Given the description of an element on the screen output the (x, y) to click on. 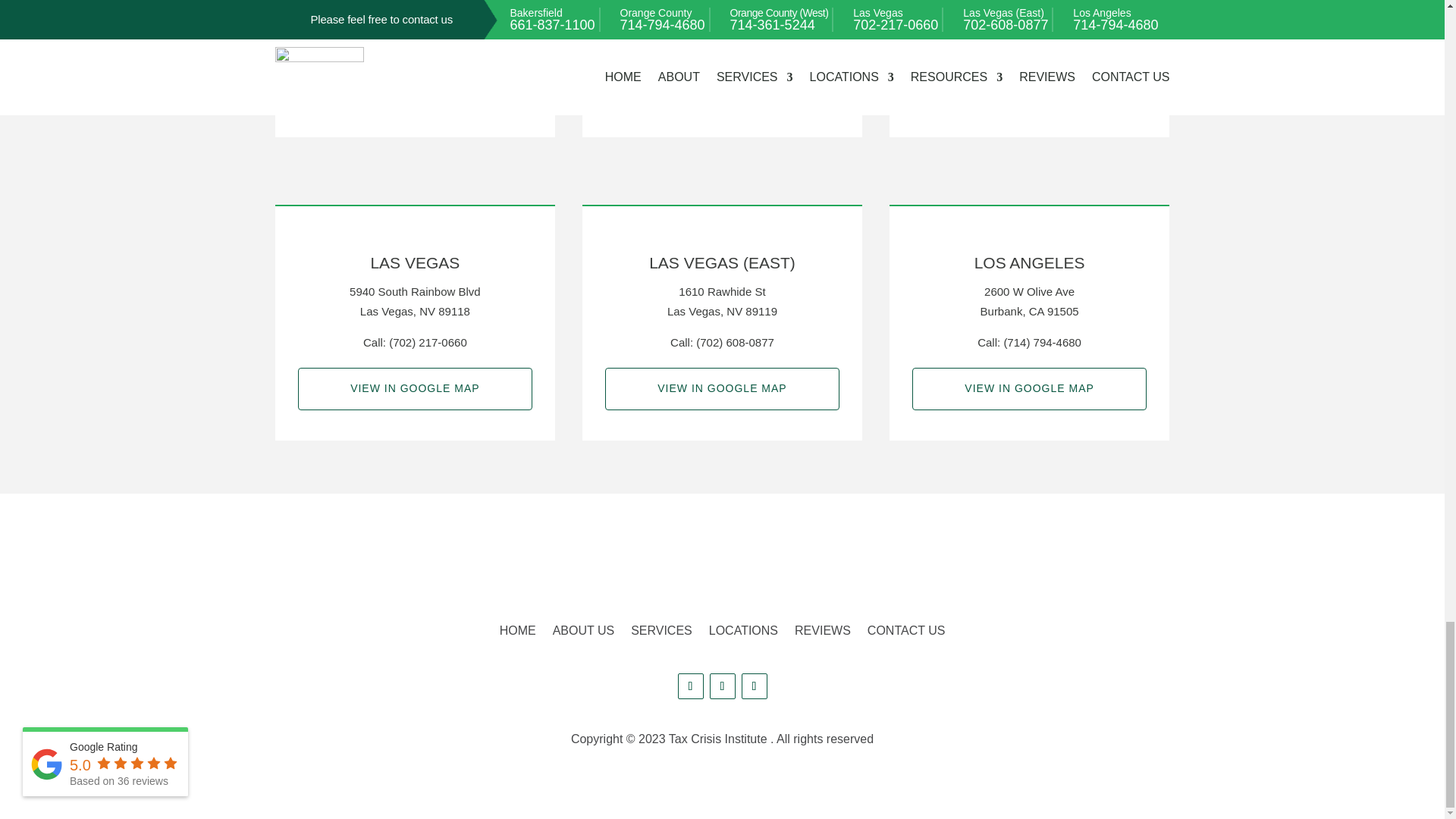
Follow on Facebook (690, 686)
Follow on X (722, 686)
Follow on LinkedIn (754, 686)
